Given the description of an element on the screen output the (x, y) to click on. 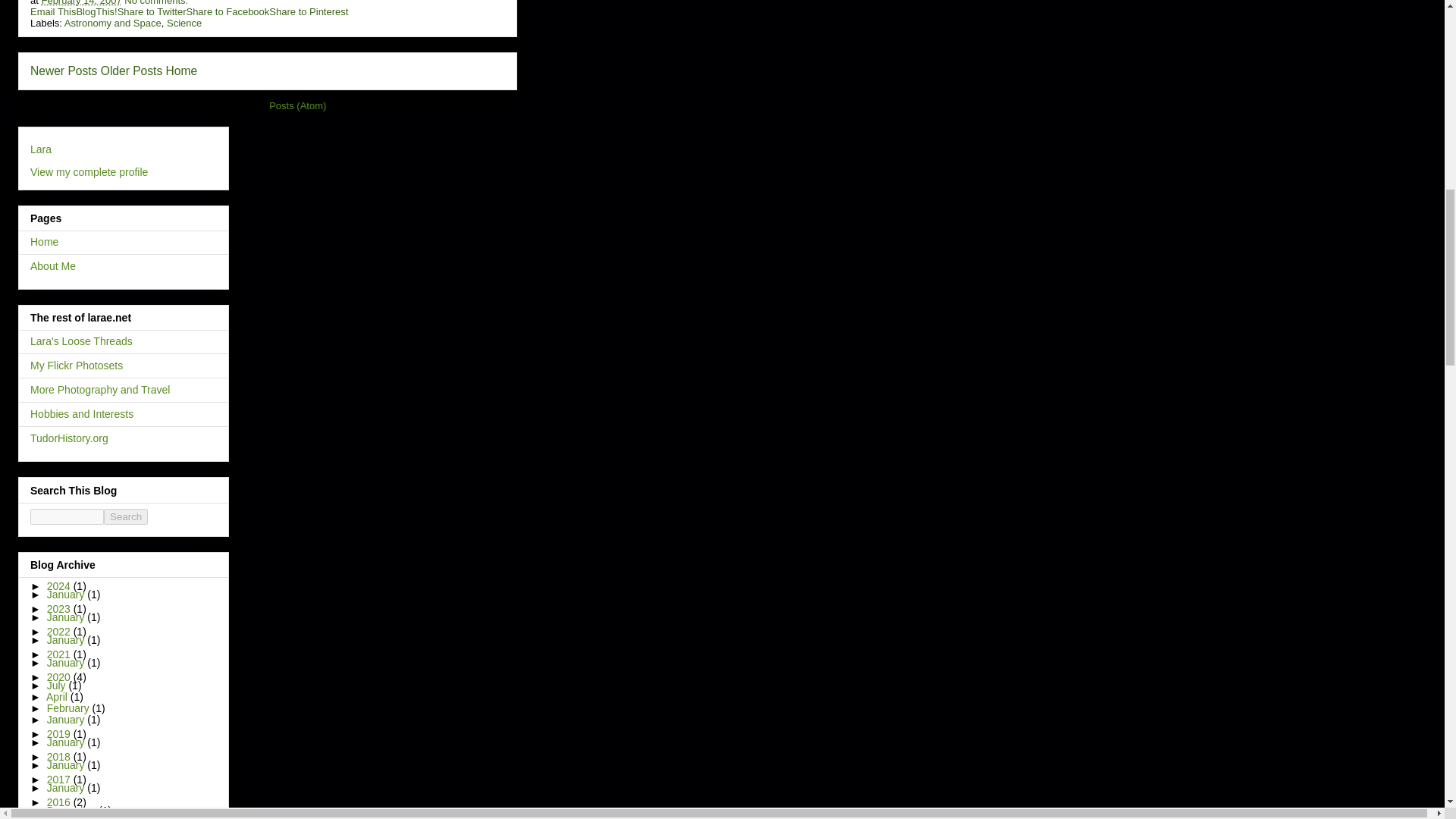
About Me (52, 265)
permanent link (80, 2)
More Photography and Travel (100, 389)
Hobbies and Interests (81, 413)
Lara's Loose Threads (81, 340)
No comments: (155, 2)
BlogThis! (95, 11)
Newer Posts (63, 70)
Older Posts (130, 70)
Newer Posts (63, 70)
Home (44, 241)
Search (125, 516)
Search (125, 516)
My Flickr Photosets (76, 365)
View my complete profile (89, 172)
